Given the description of an element on the screen output the (x, y) to click on. 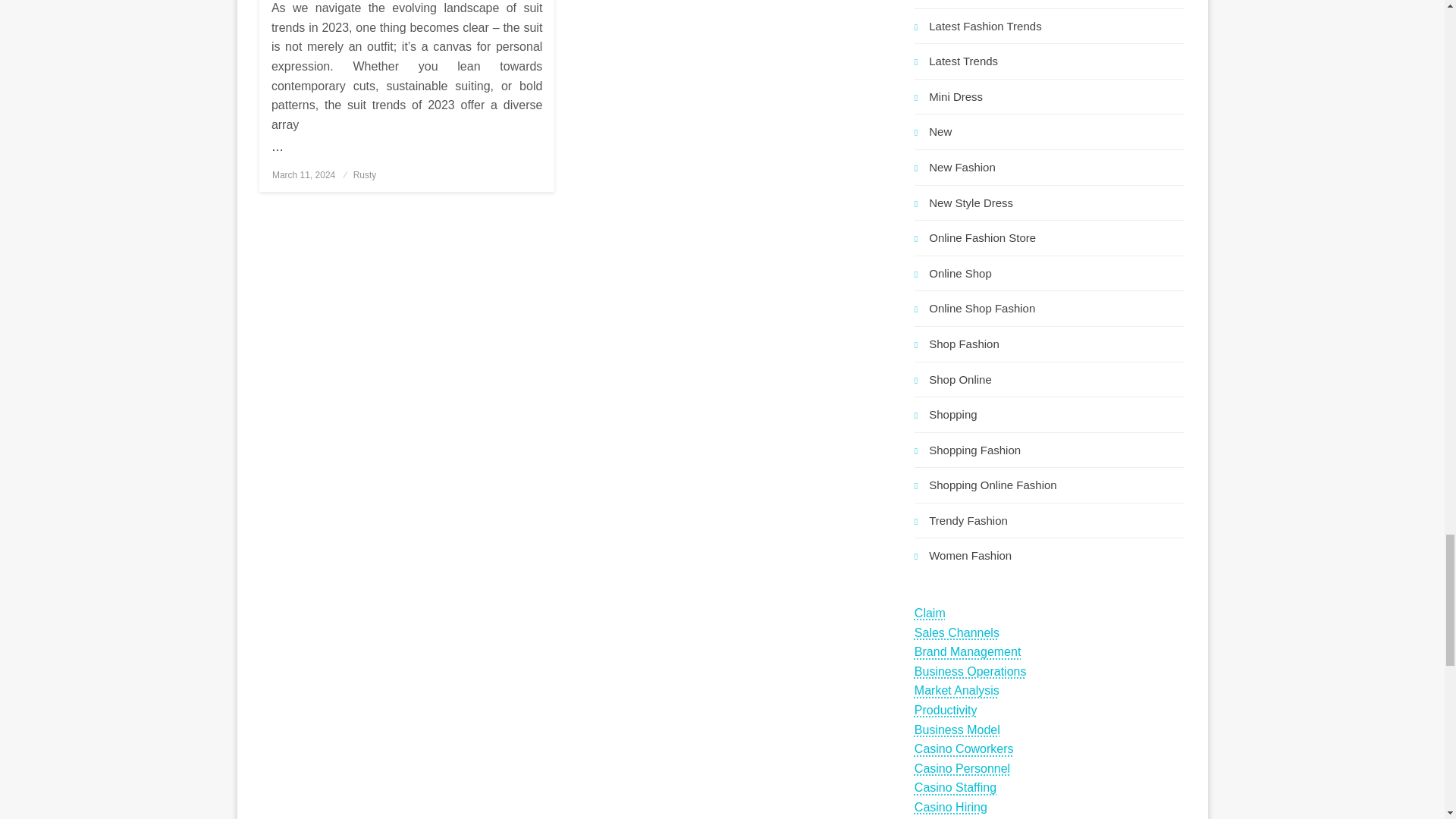
March 11, 2024 (303, 174)
Rusty (365, 174)
Rusty (365, 174)
